Given the description of an element on the screen output the (x, y) to click on. 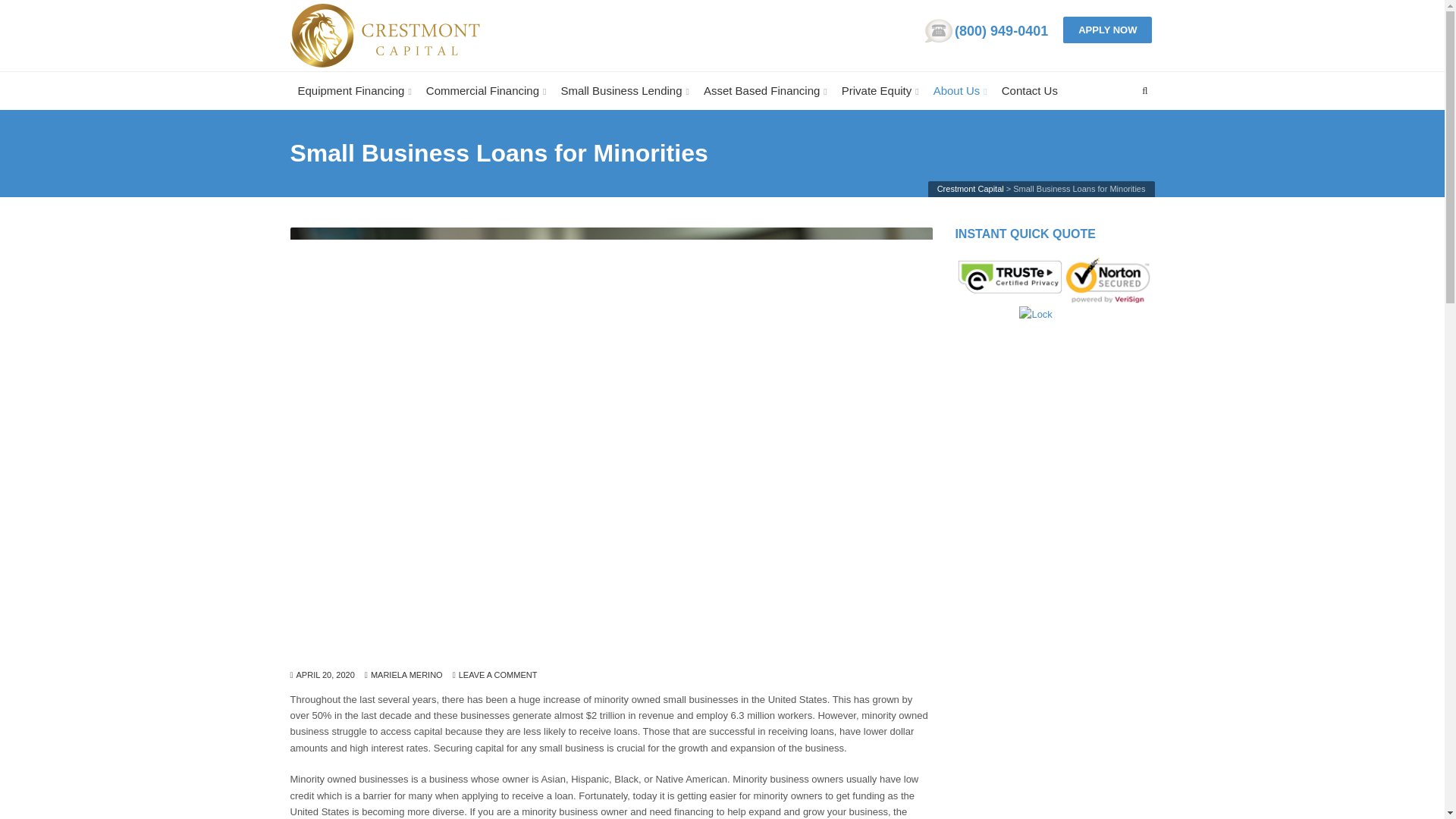
Private Equity (880, 90)
APPLY NOW (1106, 29)
Contact Us (1029, 90)
Asset Based Financing (764, 90)
Crestmont Capital (384, 35)
About Us (960, 90)
Equipment Financing (354, 90)
Small Business Lending (624, 90)
Commercial Financing (486, 90)
